Given the description of an element on the screen output the (x, y) to click on. 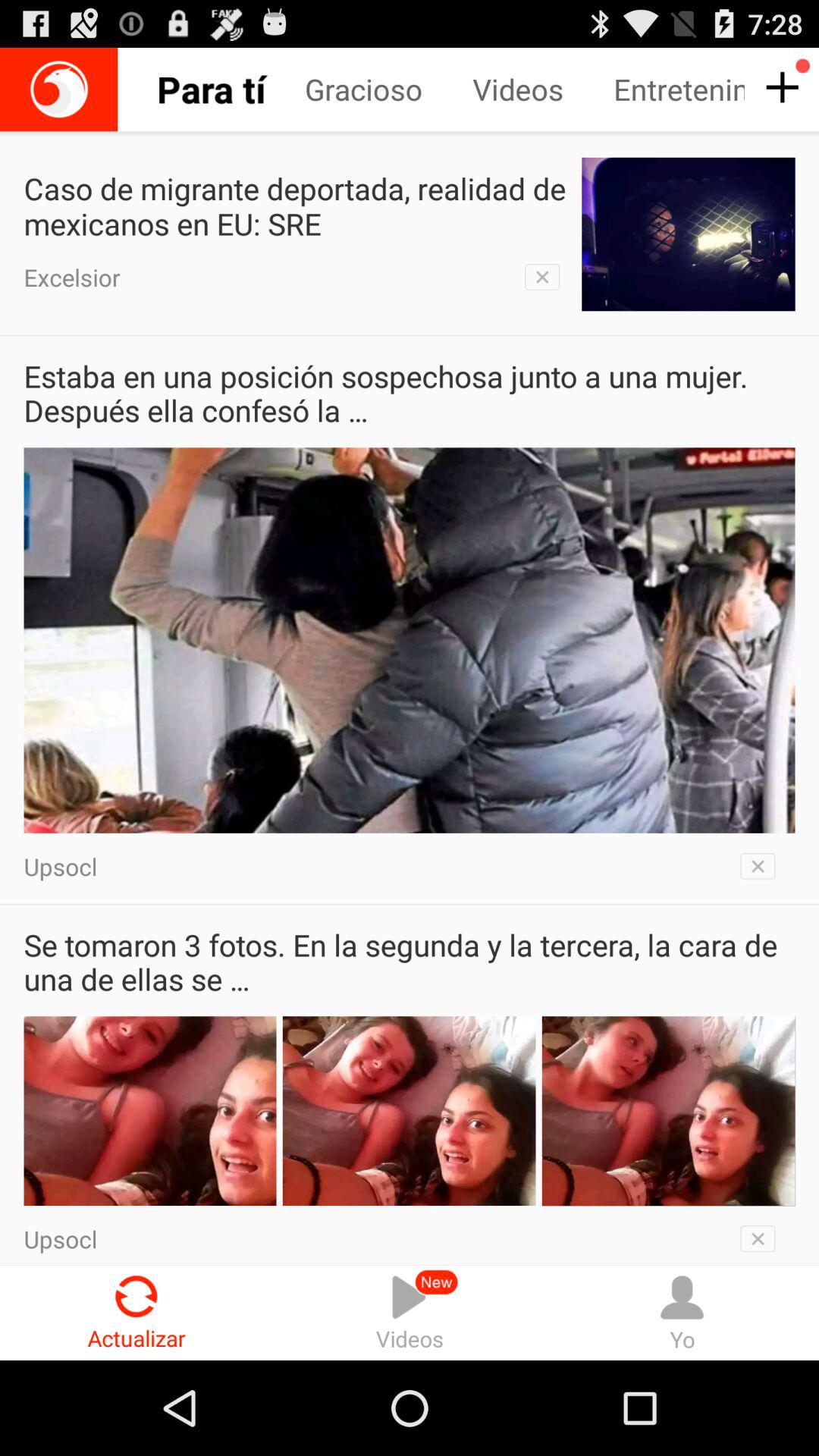
click radio button next to the videos radio button (136, 1312)
